Given the description of an element on the screen output the (x, y) to click on. 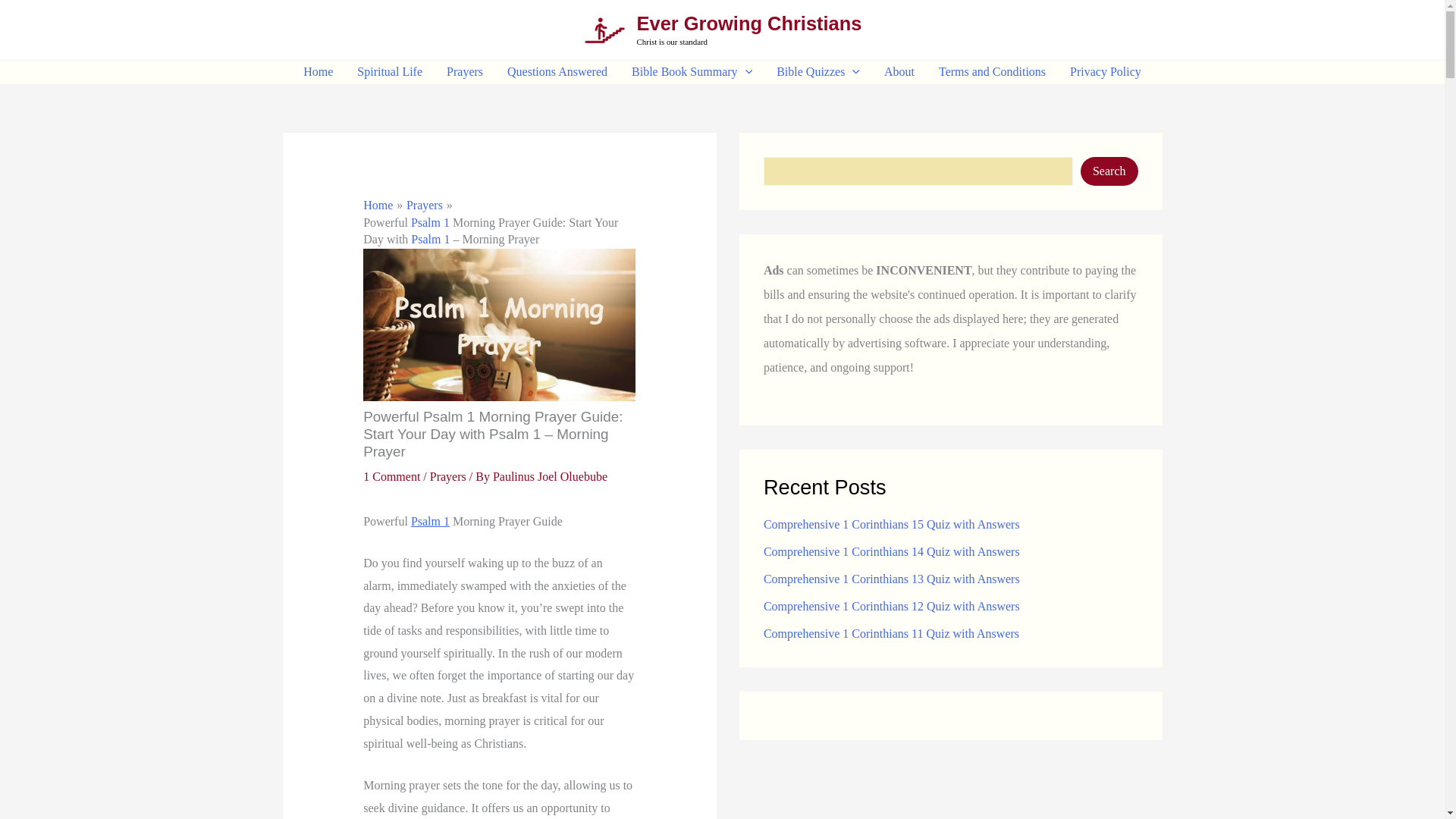
Ever Growing Christians (749, 23)
Home (318, 71)
Questions Answered (557, 71)
About (899, 71)
Prayers (464, 71)
Bible Quizzes (818, 71)
View all posts by Paulinus Joel Oluebube (550, 476)
Spiritual Life (389, 71)
Bible Book Summary (692, 71)
